Given the description of an element on the screen output the (x, y) to click on. 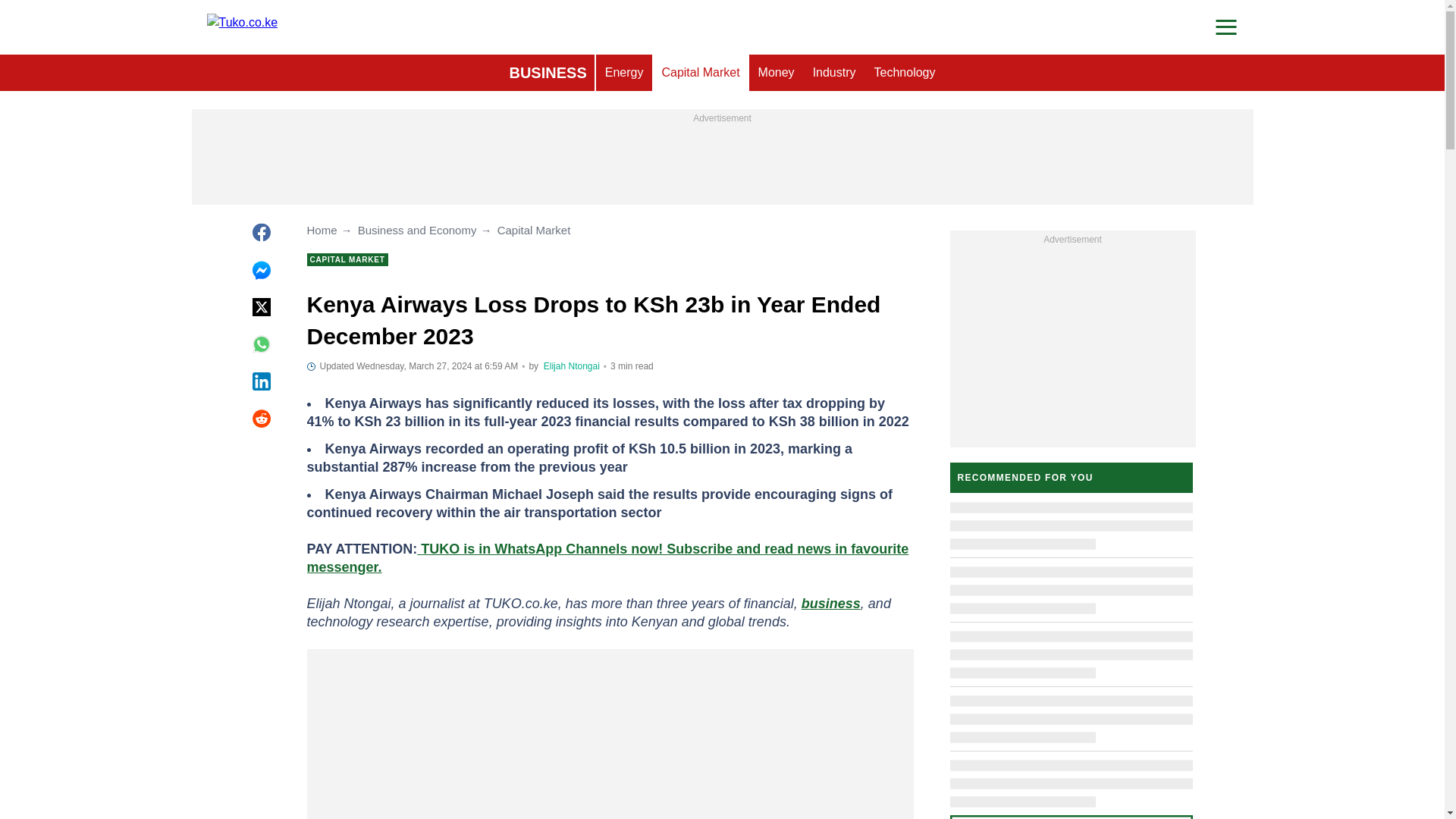
Technology (904, 72)
Industry (833, 72)
Capital Market (700, 72)
Money (776, 72)
Energy (623, 72)
BUSINESS (547, 72)
Author page (571, 366)
